Given the description of an element on the screen output the (x, y) to click on. 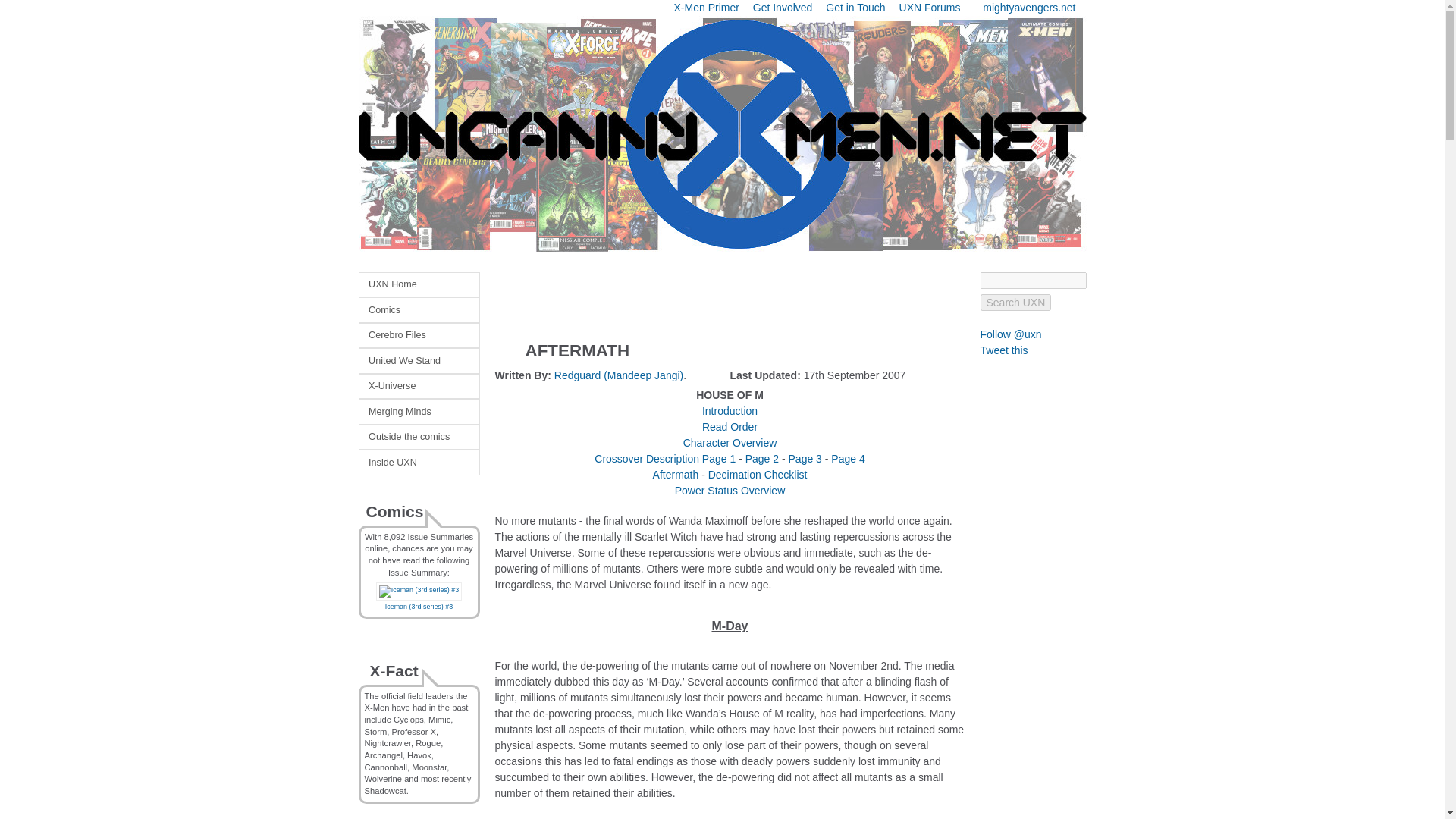
Get in Touch (855, 7)
Contribute to the site (782, 7)
Decimation Checklist (757, 474)
Page 2 (761, 458)
Page 3 (805, 458)
Crossover Description Page 1 (664, 458)
Check out our Sister site, MightyAvengers.Net! (1028, 7)
Power Status Overview (730, 490)
UXN Home (418, 284)
Page 4 (847, 458)
